Given the description of an element on the screen output the (x, y) to click on. 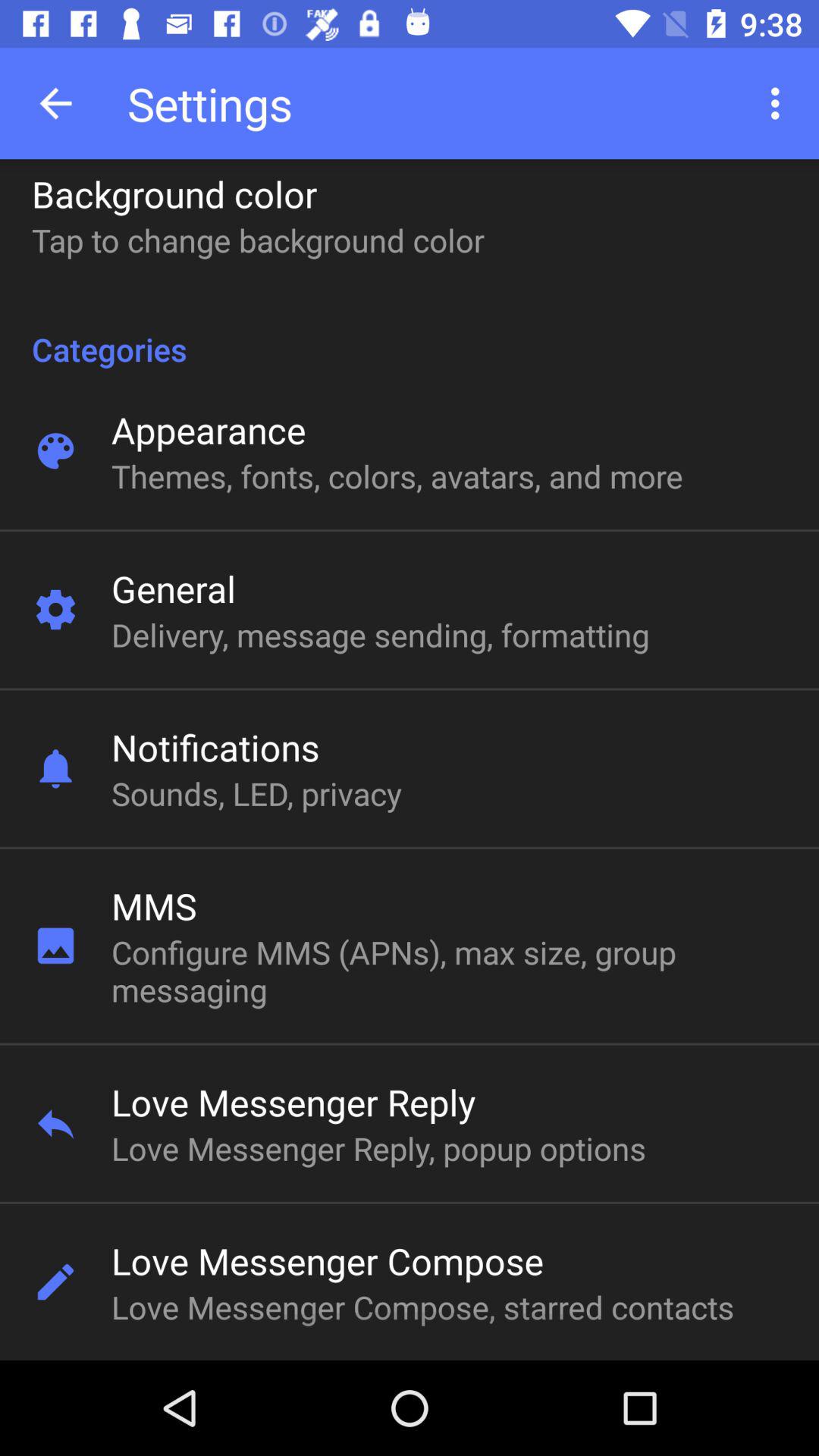
click icon at the center (380, 634)
